Given the description of an element on the screen output the (x, y) to click on. 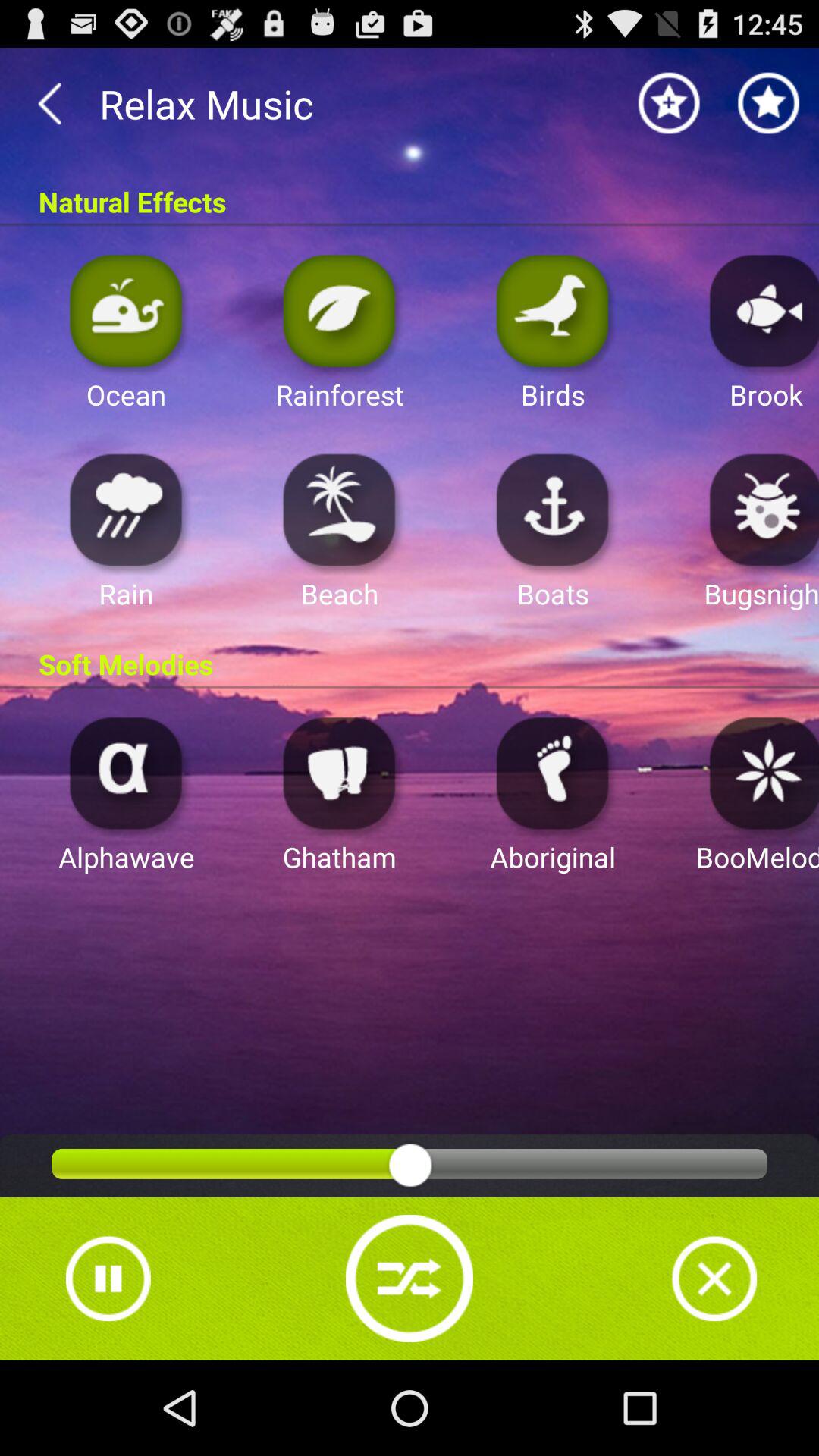
open app (126, 509)
